Given the description of an element on the screen output the (x, y) to click on. 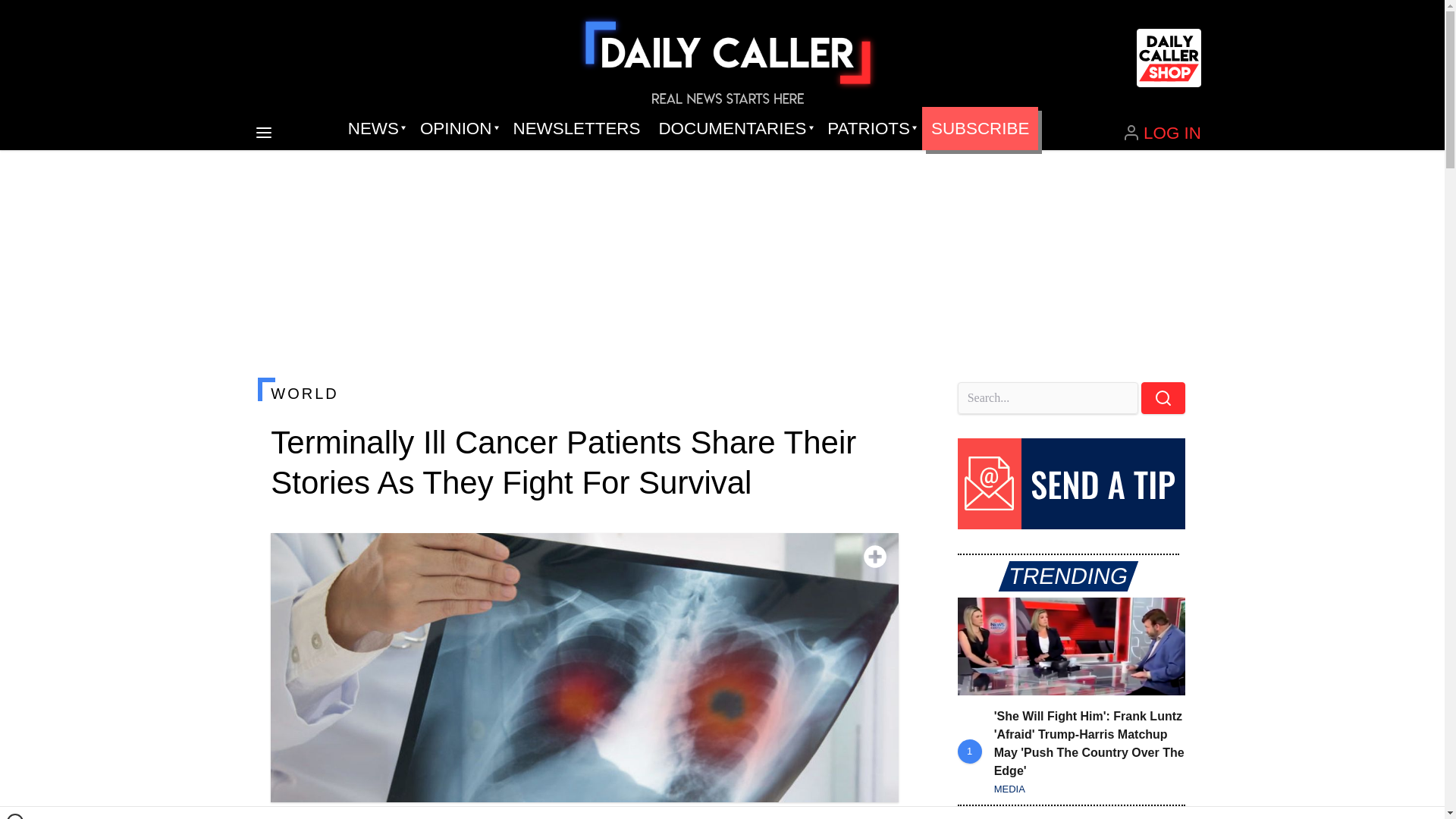
SUBSCRIBE (979, 128)
DOCUMENTARIES (733, 128)
Toggle fullscreen (874, 556)
NEWS (374, 128)
WORLD (584, 393)
PATRIOTS (869, 128)
Close window (14, 816)
NEWSLETTERS (576, 128)
OPINION (456, 128)
